Given the description of an element on the screen output the (x, y) to click on. 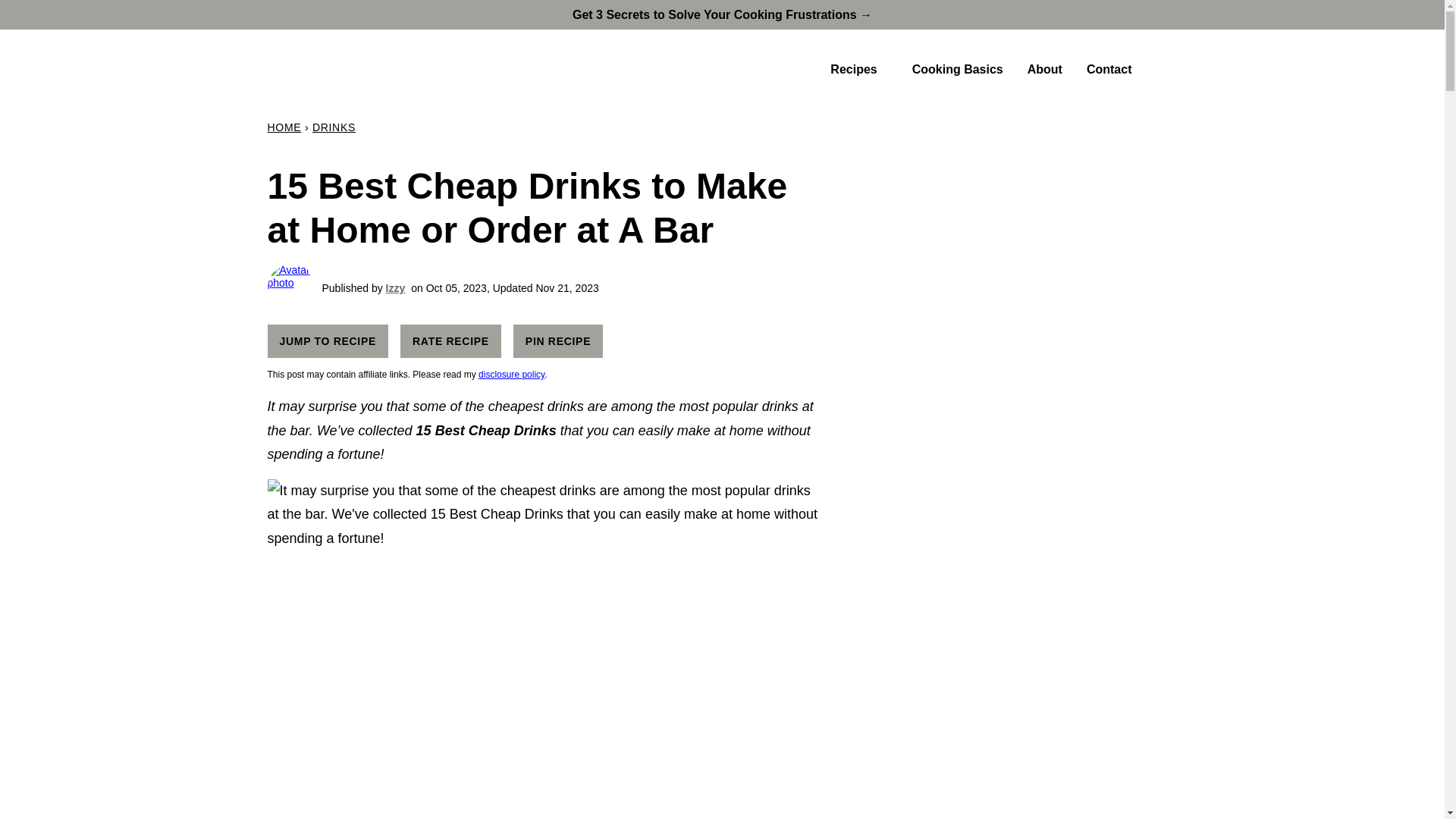
Izzy (395, 287)
Contact (1109, 69)
About (1044, 69)
Cooking Basics (956, 69)
HOME (283, 127)
RATE RECIPE (450, 340)
Recipes (858, 69)
disclosure policy (511, 374)
DRINKS (334, 127)
Share on Pinterest (557, 340)
